Given the description of an element on the screen output the (x, y) to click on. 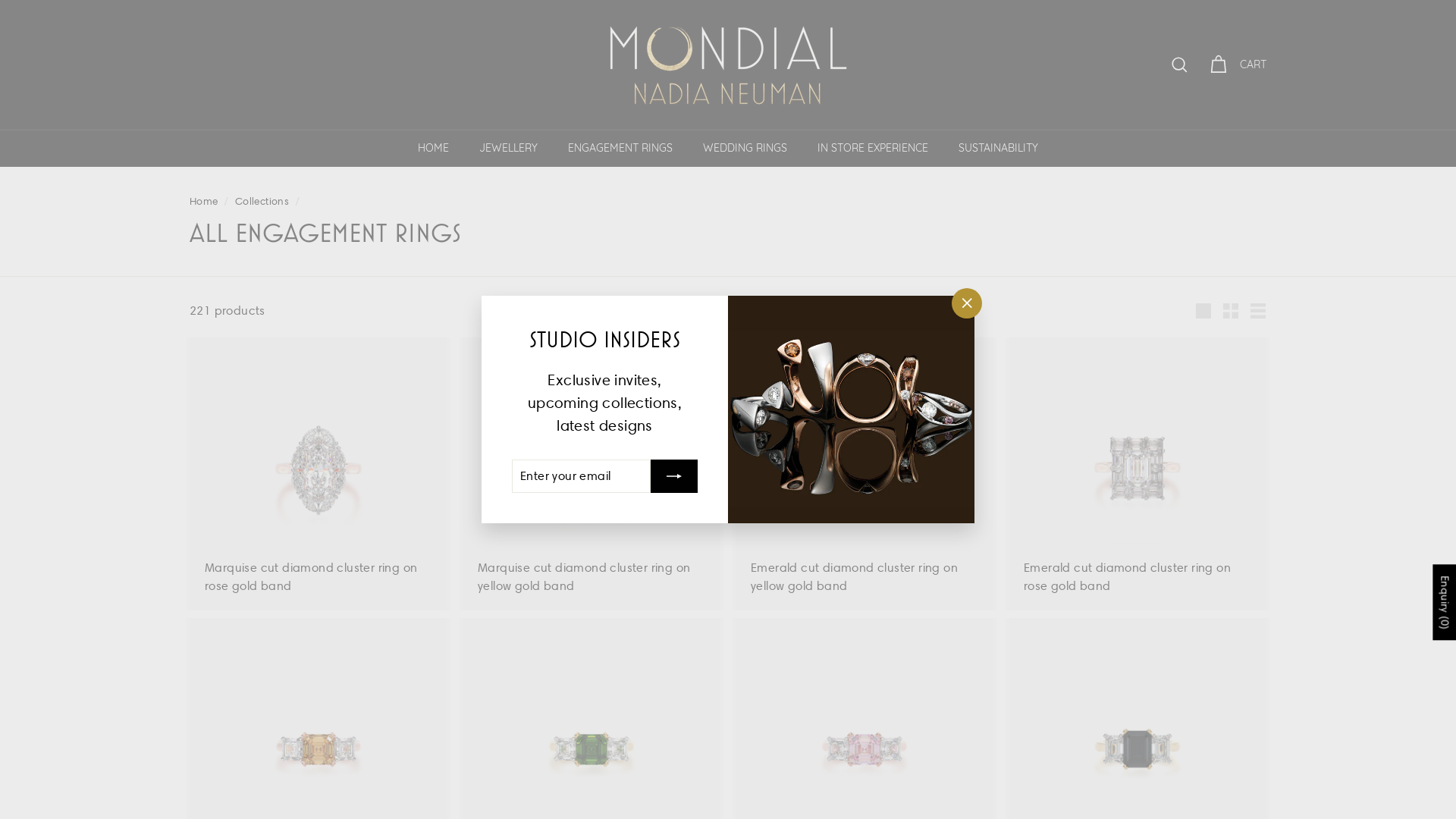
HOME Element type: text (433, 147)
"Close (esc)" Element type: text (966, 303)
Small Element type: text (1230, 310)
Large Element type: text (1203, 310)
List Element type: text (1257, 310)
Emerald cut diamond cluster ring on yellow gold band Element type: text (864, 473)
Marquise cut diamond cluster ring on rose gold band Element type: text (318, 473)
Collections Element type: text (261, 200)
Home Element type: text (203, 200)
Marquise cut diamond cluster ring on yellow gold band Element type: text (591, 473)
Emerald cut diamond cluster ring on rose gold band Element type: text (1137, 473)
SEARCH Element type: text (1179, 64)
